Given the description of an element on the screen output the (x, y) to click on. 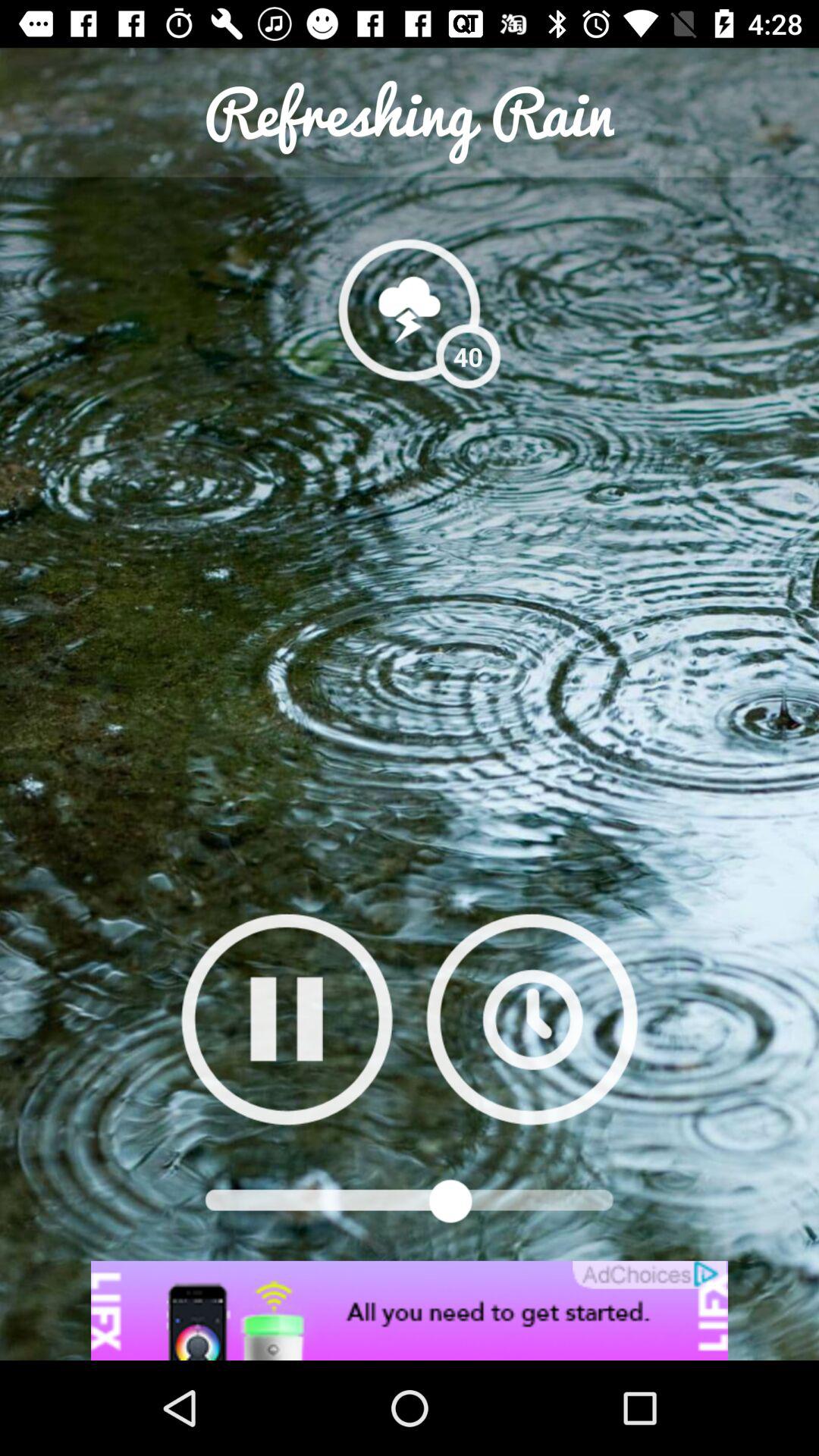
suffle (531, 1018)
